Given the description of an element on the screen output the (x, y) to click on. 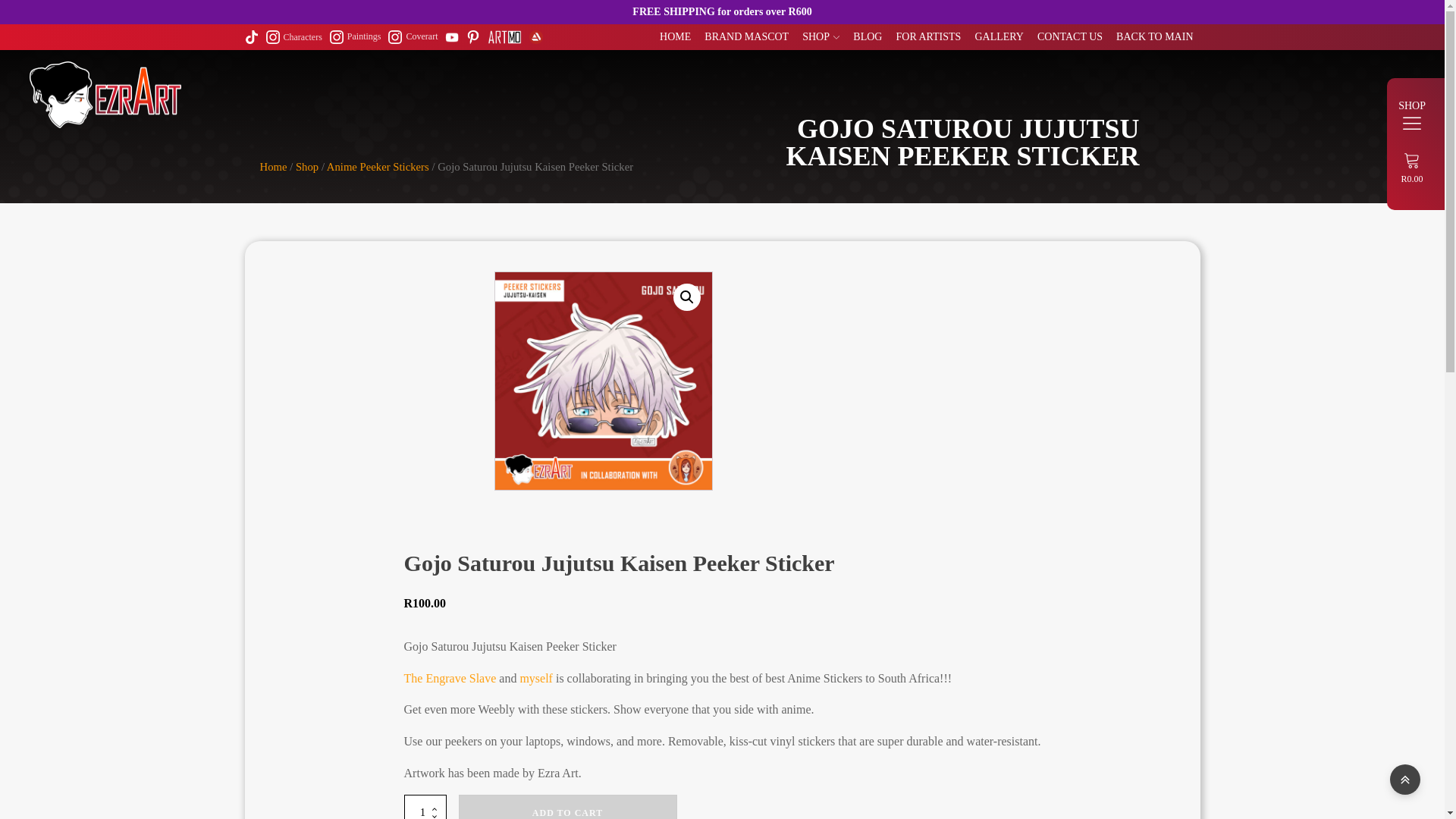
Characters (292, 37)
FOR ARTISTS (927, 36)
CONTACT US (1069, 36)
Paintings (355, 36)
HOME (675, 36)
Coverart (413, 36)
BRAND MASCOT (746, 36)
BLOG (866, 36)
GALLERY (999, 36)
1 (425, 806)
SHOP (820, 36)
BACK TO MAIN (1154, 36)
